Given the description of an element on the screen output the (x, y) to click on. 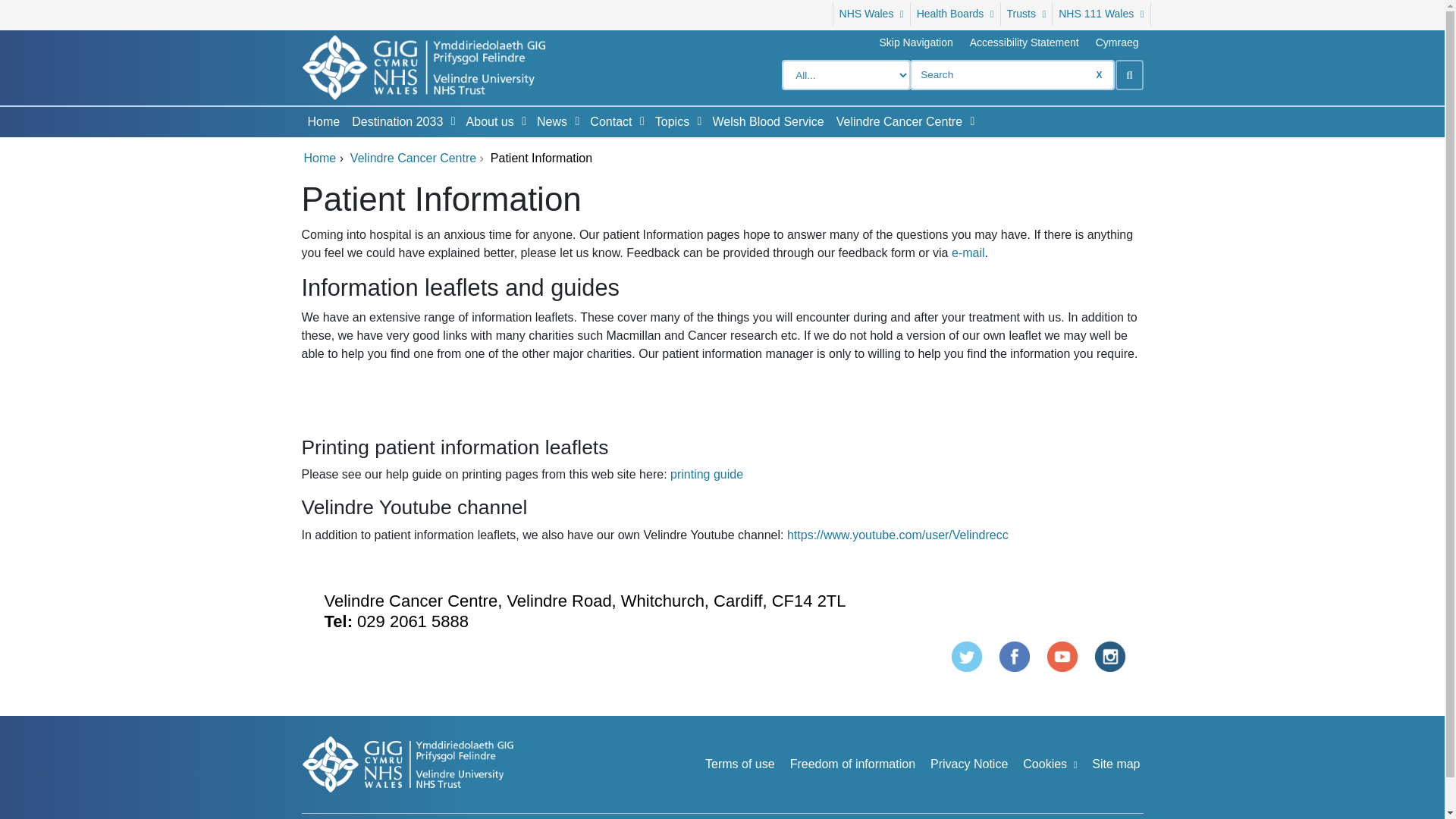
NHS Wales (871, 13)
Show Submenu For News (576, 120)
Search (1128, 74)
Skip Navigation (914, 42)
NHS 111 Wales (1101, 13)
Cymraeg (1117, 42)
Patient Information (965, 656)
News (549, 122)
Patient Information (1061, 656)
Patient Information (1110, 656)
Show Submenu For About us (523, 120)
Destination 2033 (394, 122)
Patient Information (1013, 656)
Show Submenu For Destination 2033 (453, 120)
Show Submenu For Contact (641, 120)
